Given the description of an element on the screen output the (x, y) to click on. 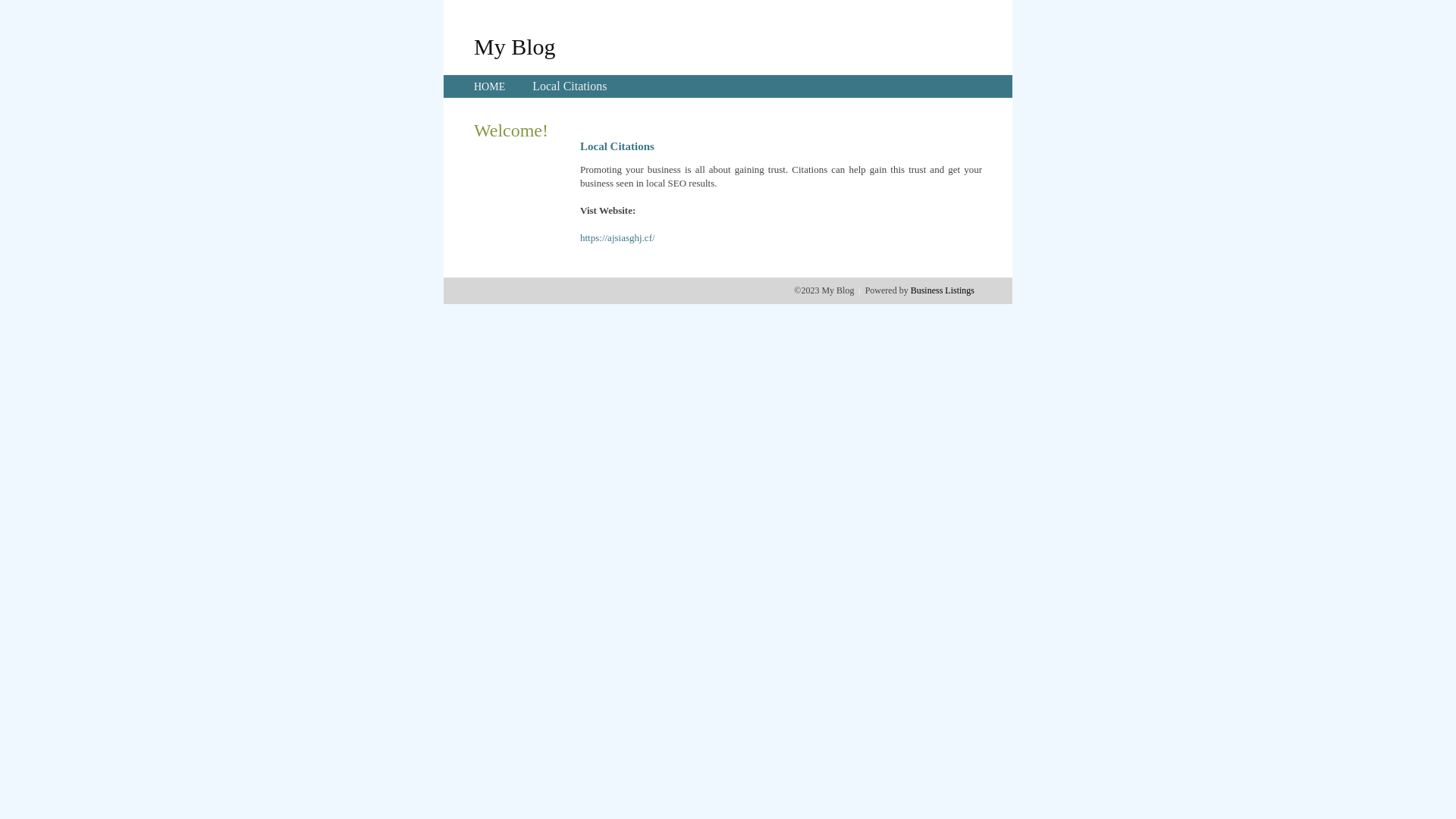
https://ajsiasghj.cf/ Element type: text (617, 237)
Local Citations Element type: text (569, 85)
Business Listings Element type: text (942, 290)
My Blog Element type: text (514, 46)
HOME Element type: text (489, 86)
